Given the description of an element on the screen output the (x, y) to click on. 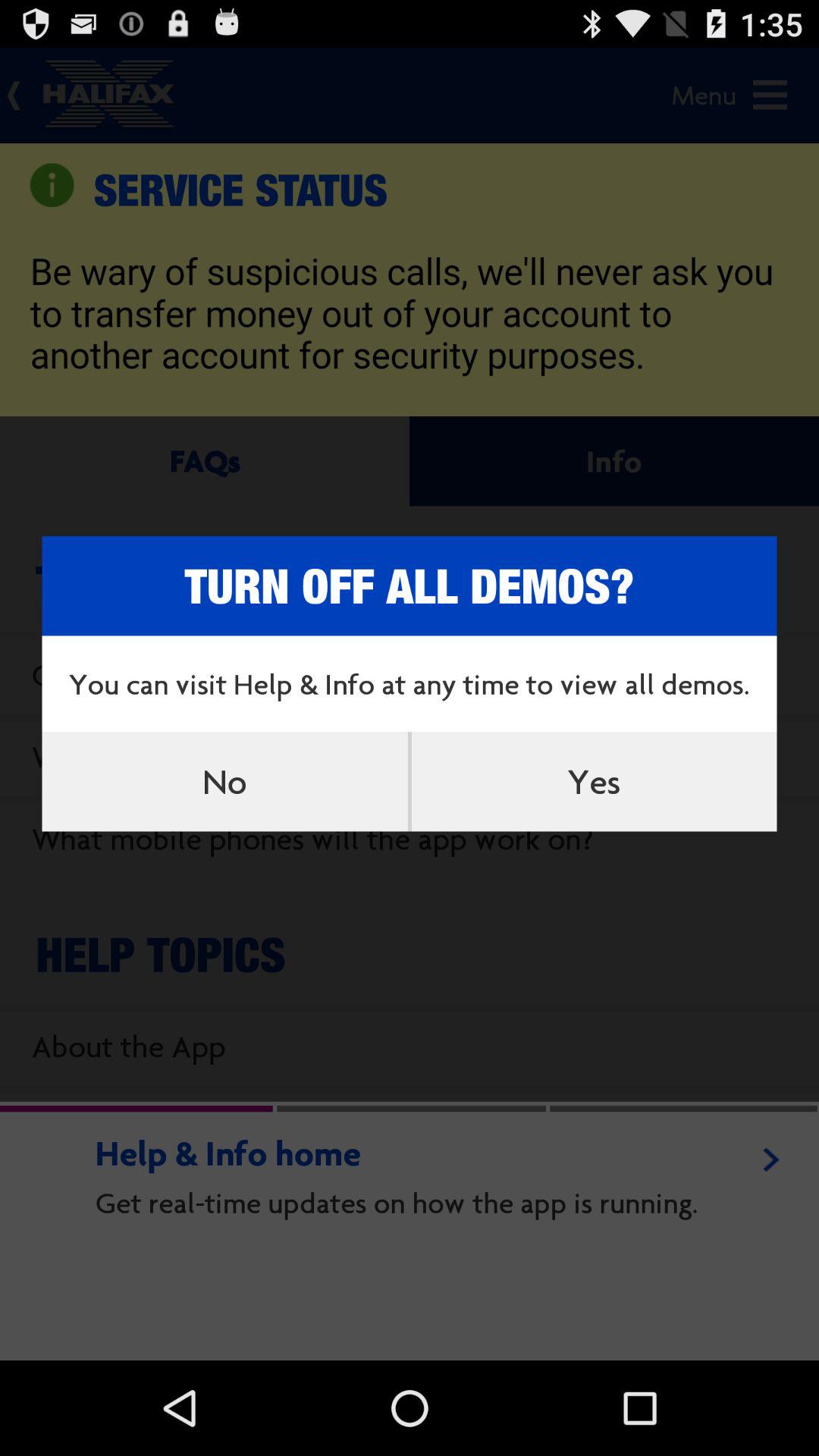
turn off item below the you can visit icon (593, 781)
